Given the description of an element on the screen output the (x, y) to click on. 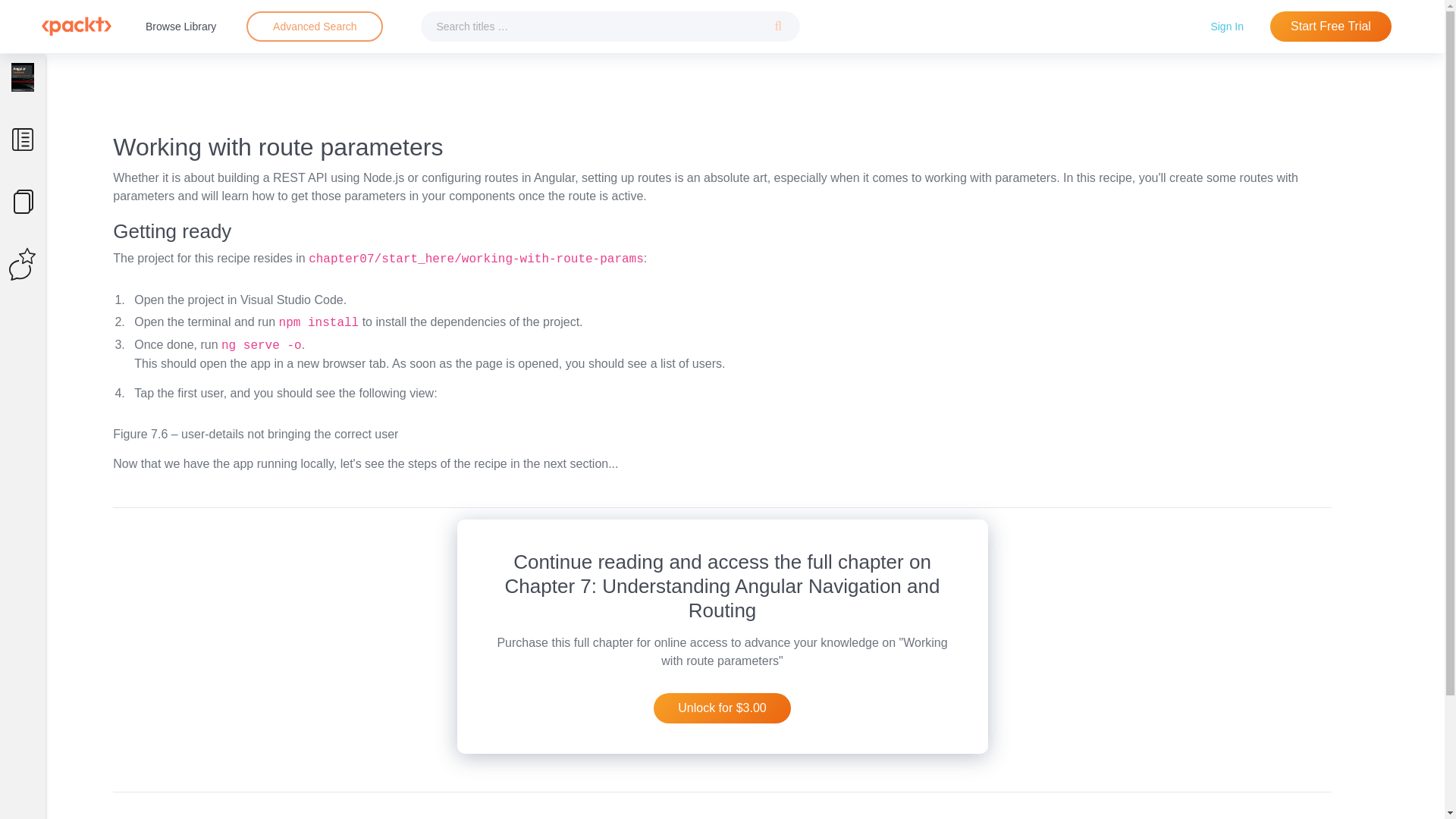
Sign In (1227, 26)
Browse Library (180, 26)
Advanced Search (314, 26)
Advanced search (314, 26)
Start Free Trial (1330, 26)
Advanced Search (315, 26)
